Given the description of an element on the screen output the (x, y) to click on. 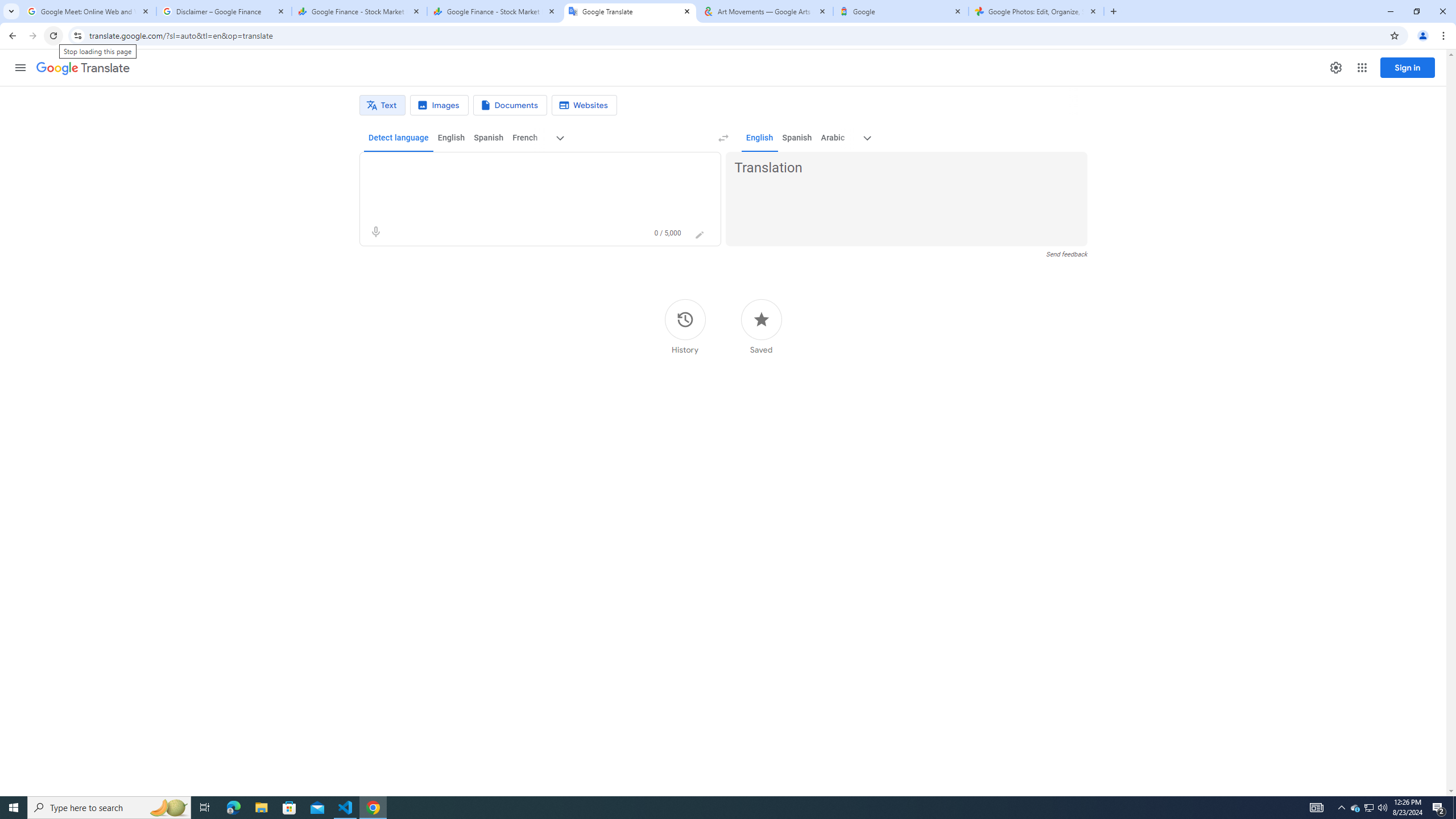
Send feedback (1066, 253)
Text translation (382, 105)
Document translation (510, 105)
More target languages (867, 137)
0 of 5,000 characters used (667, 232)
Google Translate (630, 11)
